Given the description of an element on the screen output the (x, y) to click on. 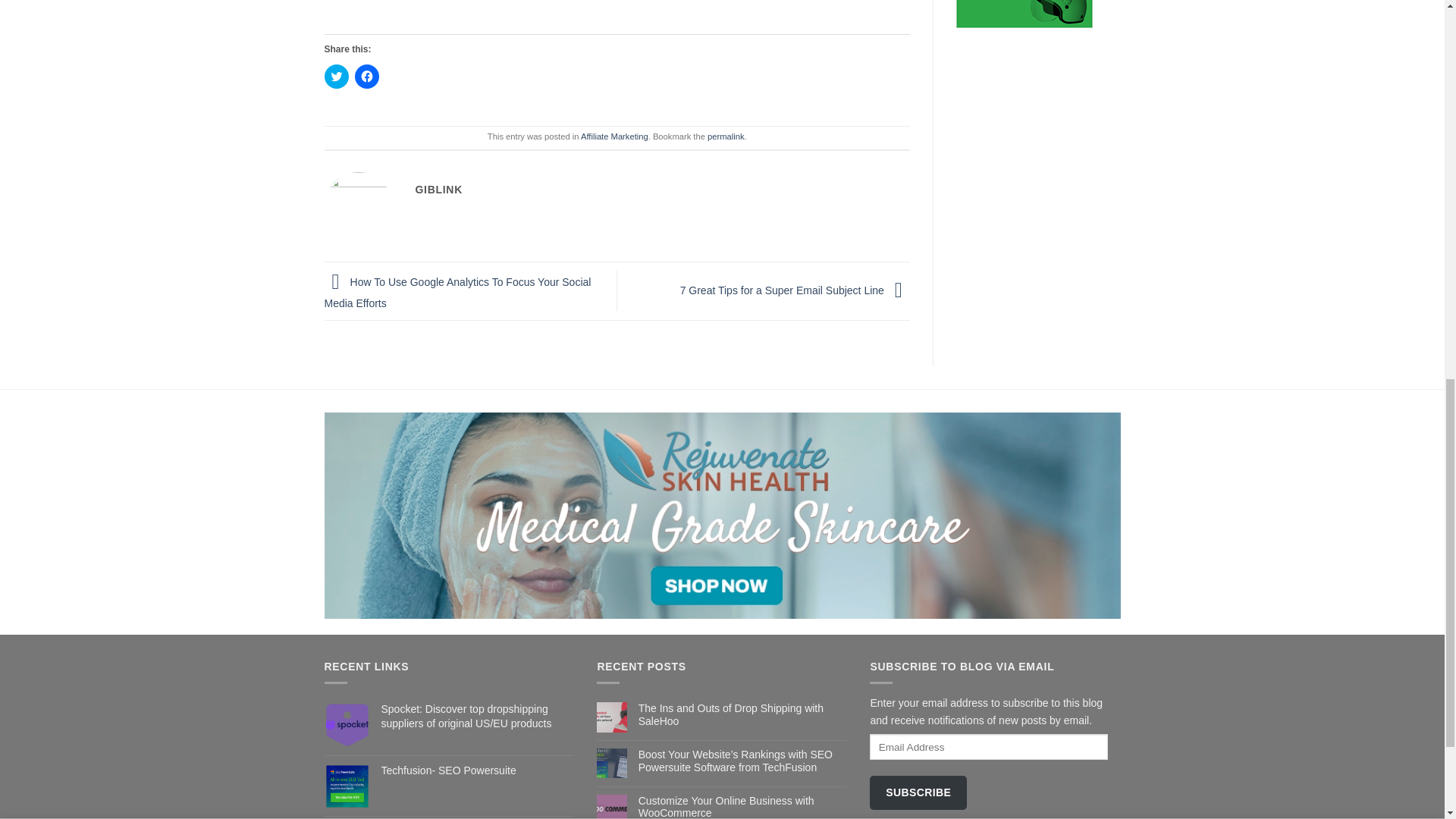
Click to share on Facebook (366, 76)
Click to share on Twitter (336, 76)
The Ins and Outs of Drop Shipping with SaleHoo (743, 714)
Permalink to 11 sources of Non-Stop Traffic! (725, 135)
Customize Your Online Business with WooCommerce (743, 806)
